Given the description of an element on the screen output the (x, y) to click on. 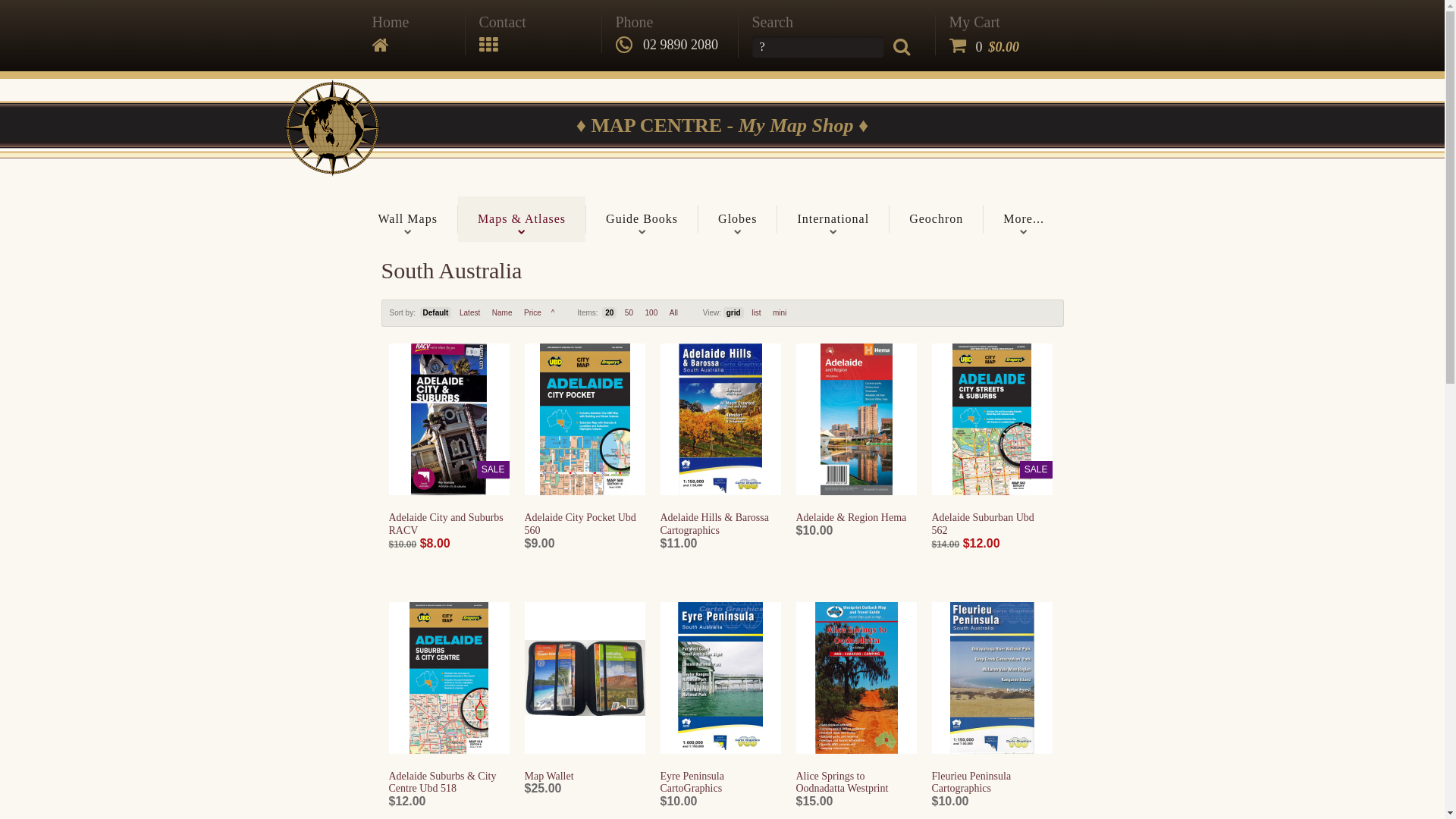
50 Element type: text (629, 312)
Guide Books Element type: text (641, 218)
Maps & Atlases Element type: text (521, 218)
Adelaide Hills & Barossa Cartographics Element type: hover (719, 419)
Adelaide City Pocket Ubd 560 Element type: text (580, 523)
Eyre Peninsula CartoGraphics Element type: text (691, 782)
Map Wallet Element type: hover (584, 677)
All Element type: text (673, 312)
More... Element type: text (1023, 218)
0$0.00 Element type: text (984, 46)
grid Element type: text (733, 312)
Price Element type: text (532, 312)
Adelaide Suburbs & City Centre Ubd 518 Element type: hover (448, 677)
list Element type: text (755, 312)
^ Element type: text (552, 312)
Adelaide Hills & Barossa Cartographics Element type: text (713, 523)
20 Element type: text (609, 312)
Wall Maps Element type: text (406, 218)
Contact Element type: text (502, 21)
Map Wallet Element type: text (549, 775)
Geochron Element type: text (935, 218)
Adelaide & Region Hema Element type: text (851, 517)
SALE Element type: text (448, 419)
02 9890 2080 Element type: text (666, 44)
Globes Element type: text (737, 218)
Eyre Peninsula CartoGraphics Element type: hover (719, 677)
Phone Element type: text (634, 21)
Adelaide Suburban Ubd 562 Element type: text (982, 523)
Fleurieu Peninsula Cartographics Element type: hover (991, 677)
Name Element type: text (502, 312)
Fleurieu Peninsula Cartographics Element type: text (970, 782)
Home Element type: text (389, 21)
International Element type: text (832, 218)
Default Element type: text (435, 312)
mini Element type: text (779, 312)
100 Element type: text (651, 312)
Latest Element type: text (469, 312)
My Cart Element type: text (984, 21)
SALE Element type: text (991, 419)
Adelaide & Region Hema Element type: hover (856, 419)
Adelaide City and Suburbs RACV Element type: text (445, 523)
Adelaide Suburbs & City Centre Ubd 518 Element type: text (441, 782)
Alice Springs to Oodnadatta Westprint Element type: hover (856, 677)
Adelaide City Pocket Ubd 560 Element type: hover (584, 419)
Alice Springs to Oodnadatta Westprint Element type: text (842, 782)
